Given the description of an element on the screen output the (x, y) to click on. 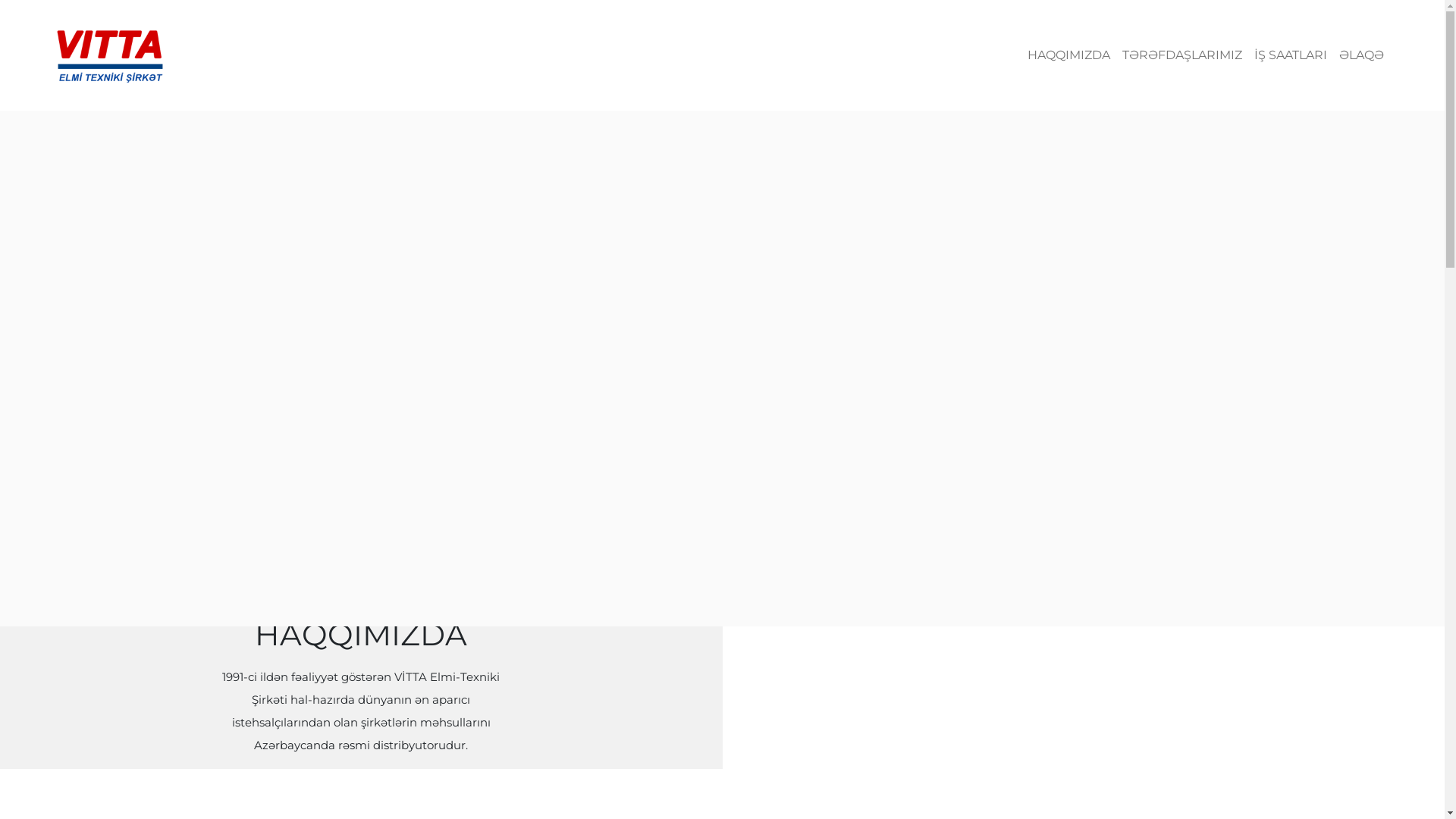
HAQQIMIZDA Element type: text (1068, 55)
